Given the description of an element on the screen output the (x, y) to click on. 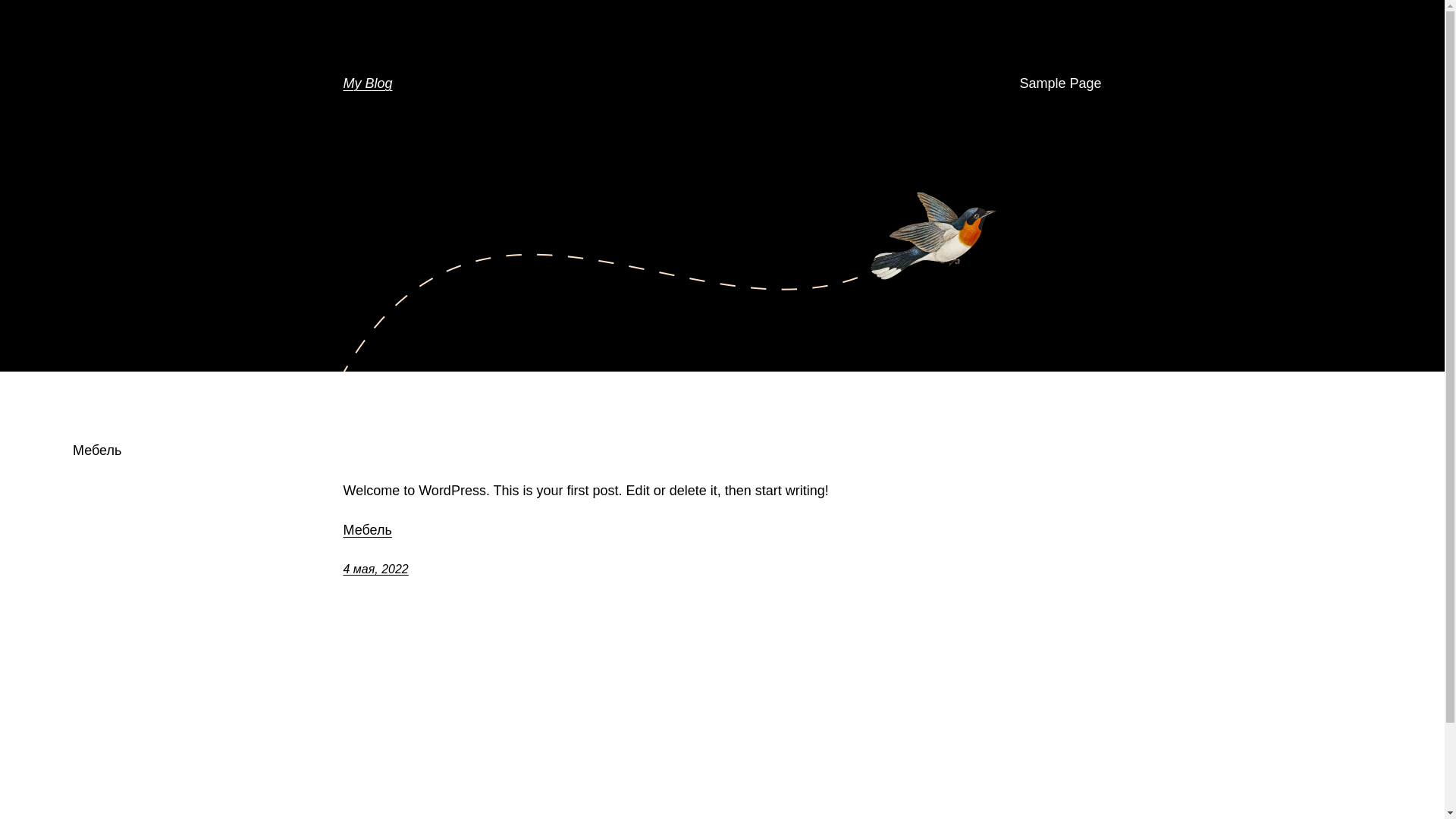
My Blog Element type: text (367, 83)
Sample Page Element type: text (1060, 83)
